Given the description of an element on the screen output the (x, y) to click on. 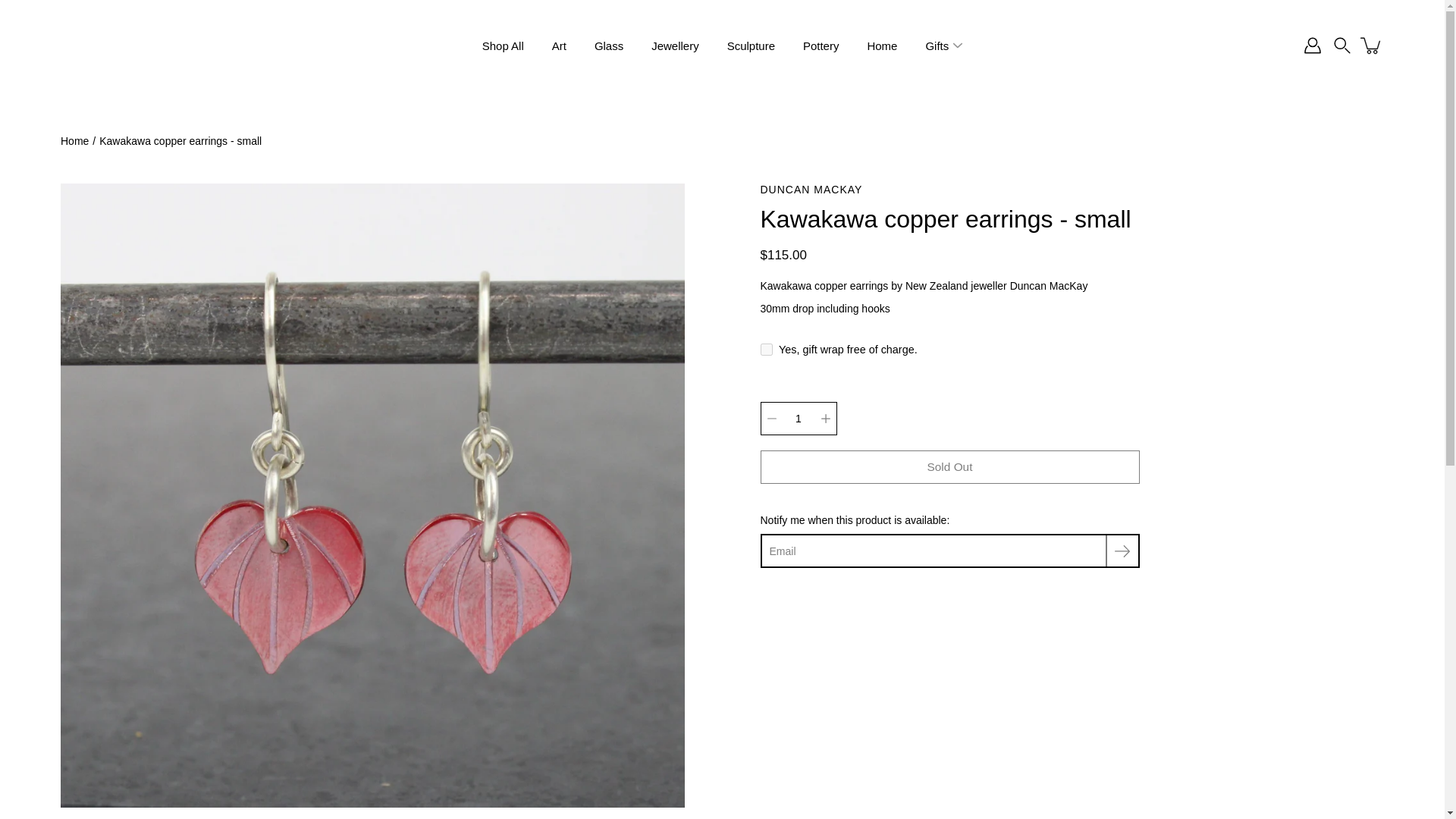
Home (881, 45)
Jewellery (674, 45)
43363162521819 (765, 349)
Shop All (502, 45)
Pottery (820, 45)
1 (797, 418)
Home (74, 141)
Sculpture (750, 45)
Gifts (936, 45)
Glass (608, 45)
Back to the Homepage (74, 141)
DUNCAN MACKAY (949, 189)
Sold Out (949, 467)
Search (1342, 45)
